Given the description of an element on the screen output the (x, y) to click on. 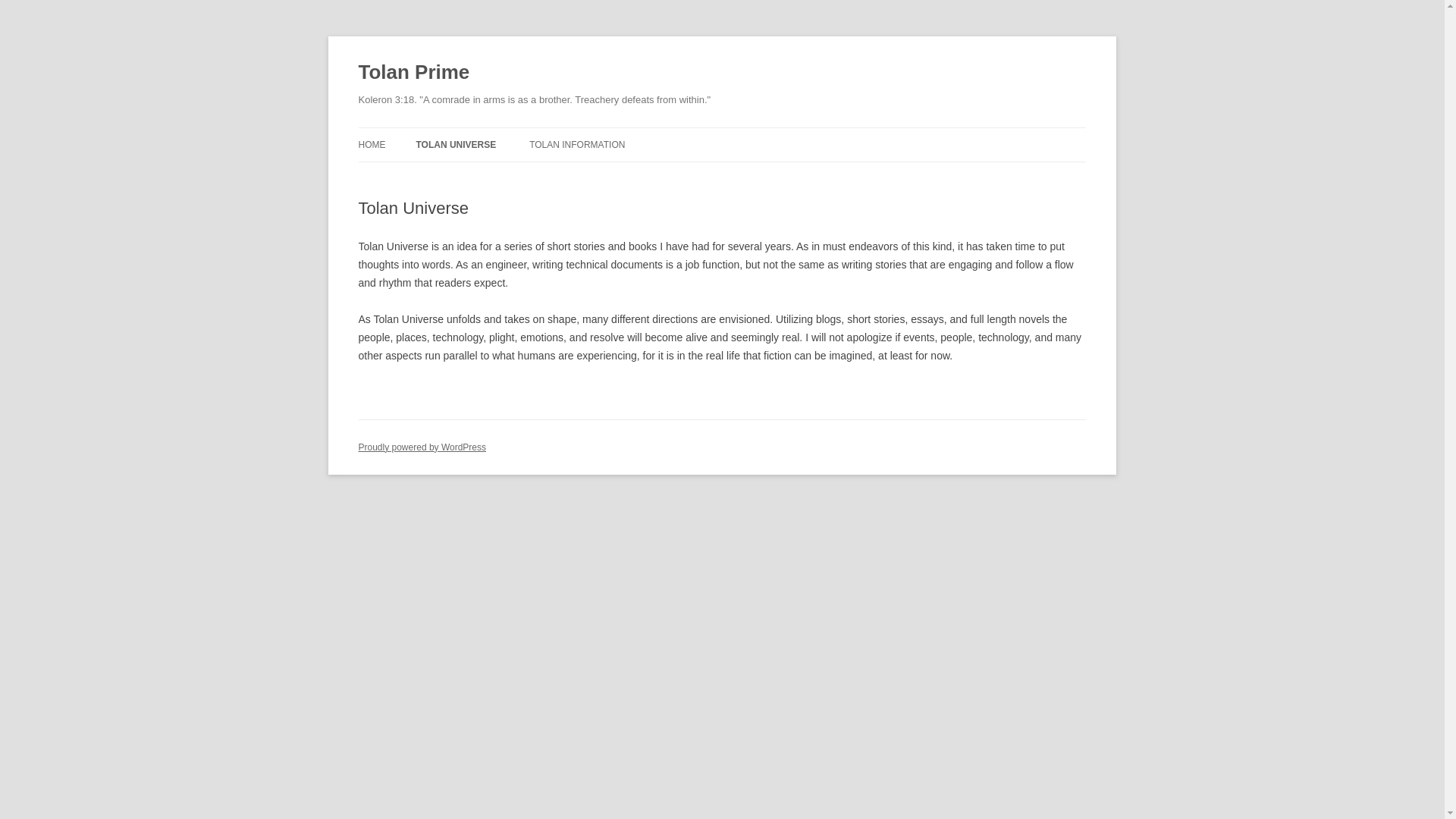
PEOPLE (605, 176)
Tolan Prime (413, 72)
TOLAN UNIVERSE (455, 144)
TOLAN INFORMATION (576, 144)
Tolan Prime (413, 72)
TOLAN PRIME (490, 176)
